Given the description of an element on the screen output the (x, y) to click on. 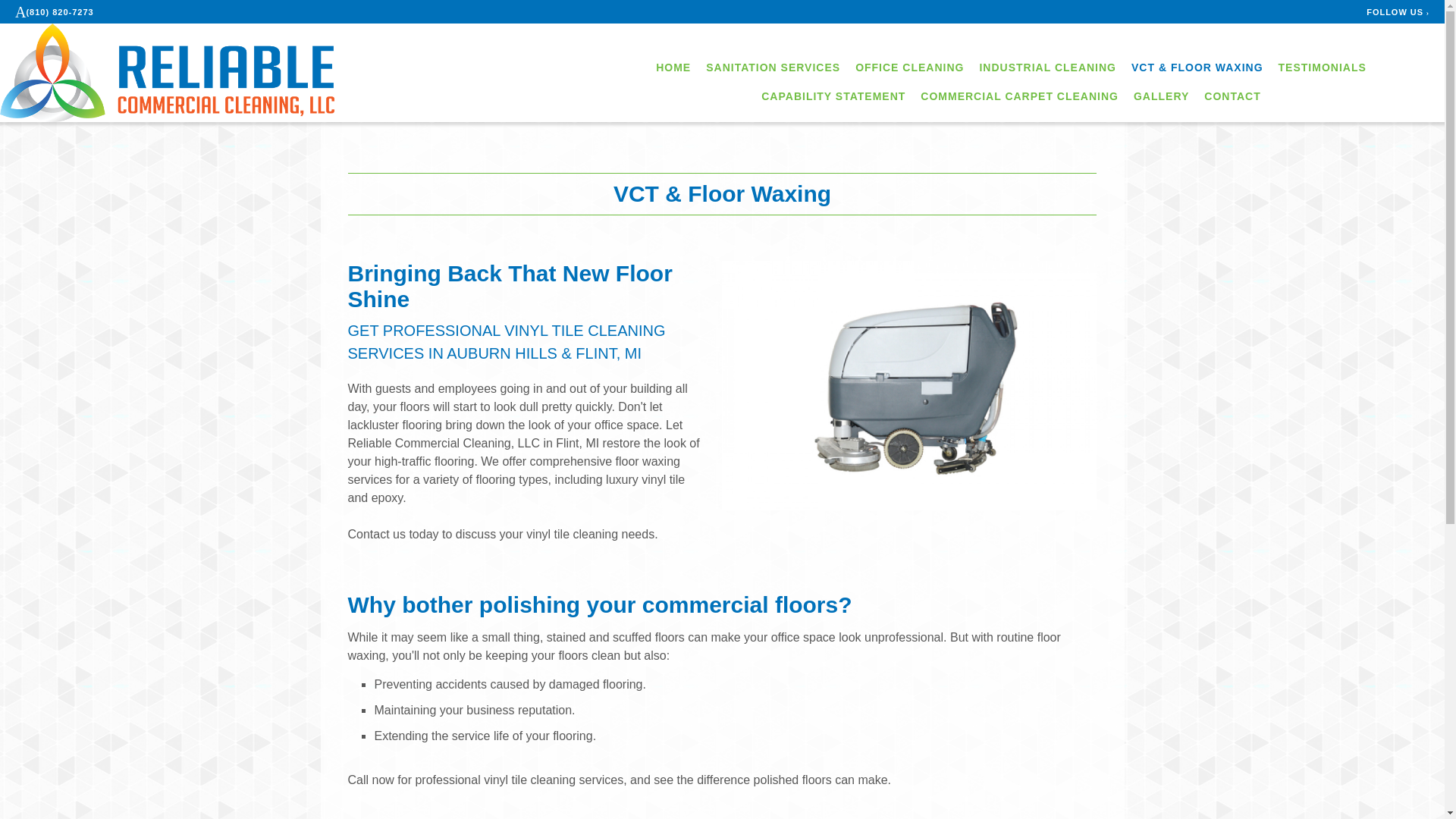
HOME (673, 66)
TESTIMONIALS (1322, 66)
GALLERY (1161, 96)
SANITATION SERVICES (773, 66)
CONTACT (1232, 96)
INDUSTRIAL CLEANING (1047, 66)
COMMERCIAL CARPET CLEANING (1019, 96)
OFFICE CLEANING (909, 66)
CAPABILITY STATEMENT (833, 96)
